Given the description of an element on the screen output the (x, y) to click on. 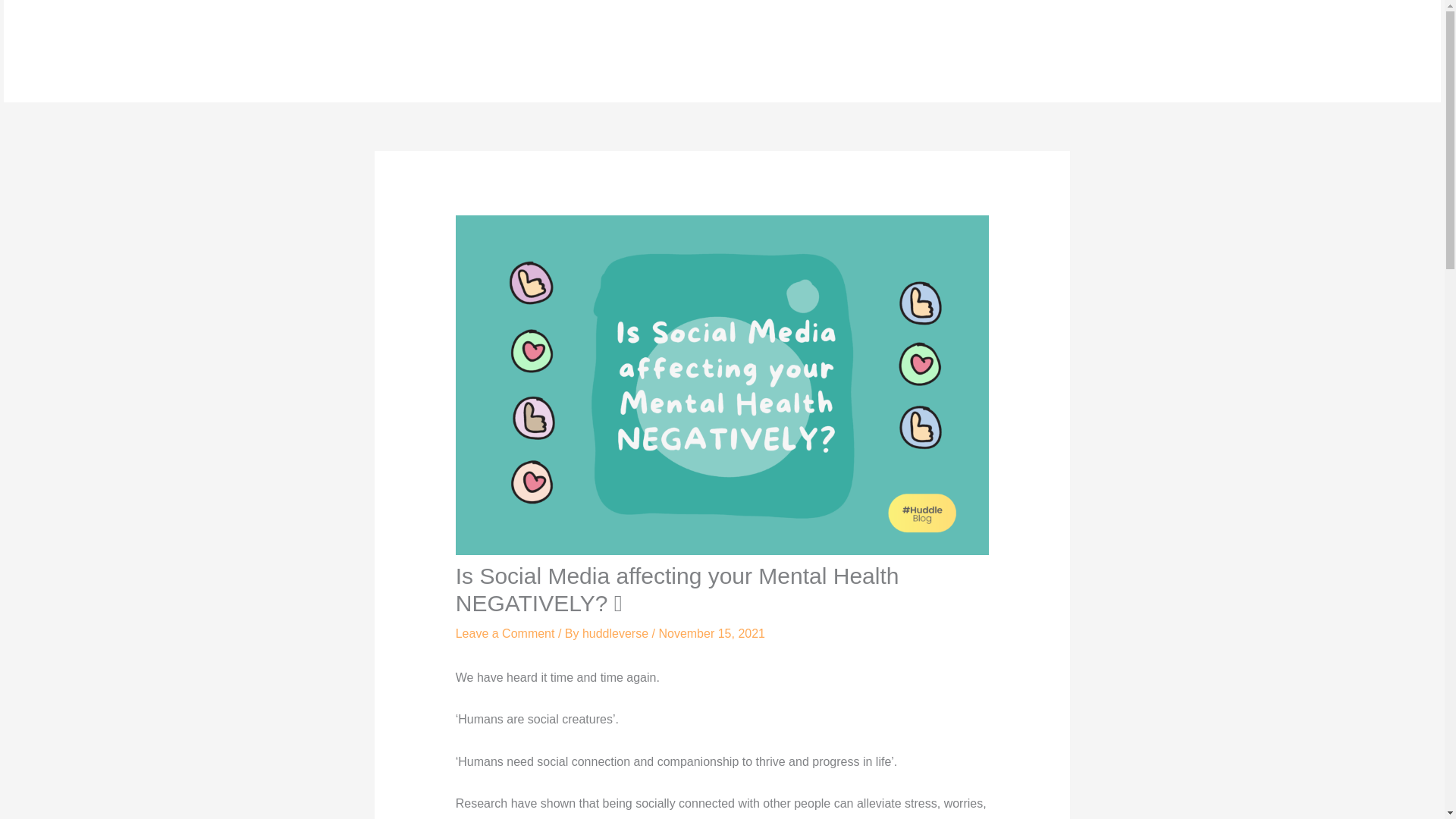
Get Huddleverse! (1069, 51)
huddleverse (617, 633)
Leave a Comment (504, 633)
